Given the description of an element on the screen output the (x, y) to click on. 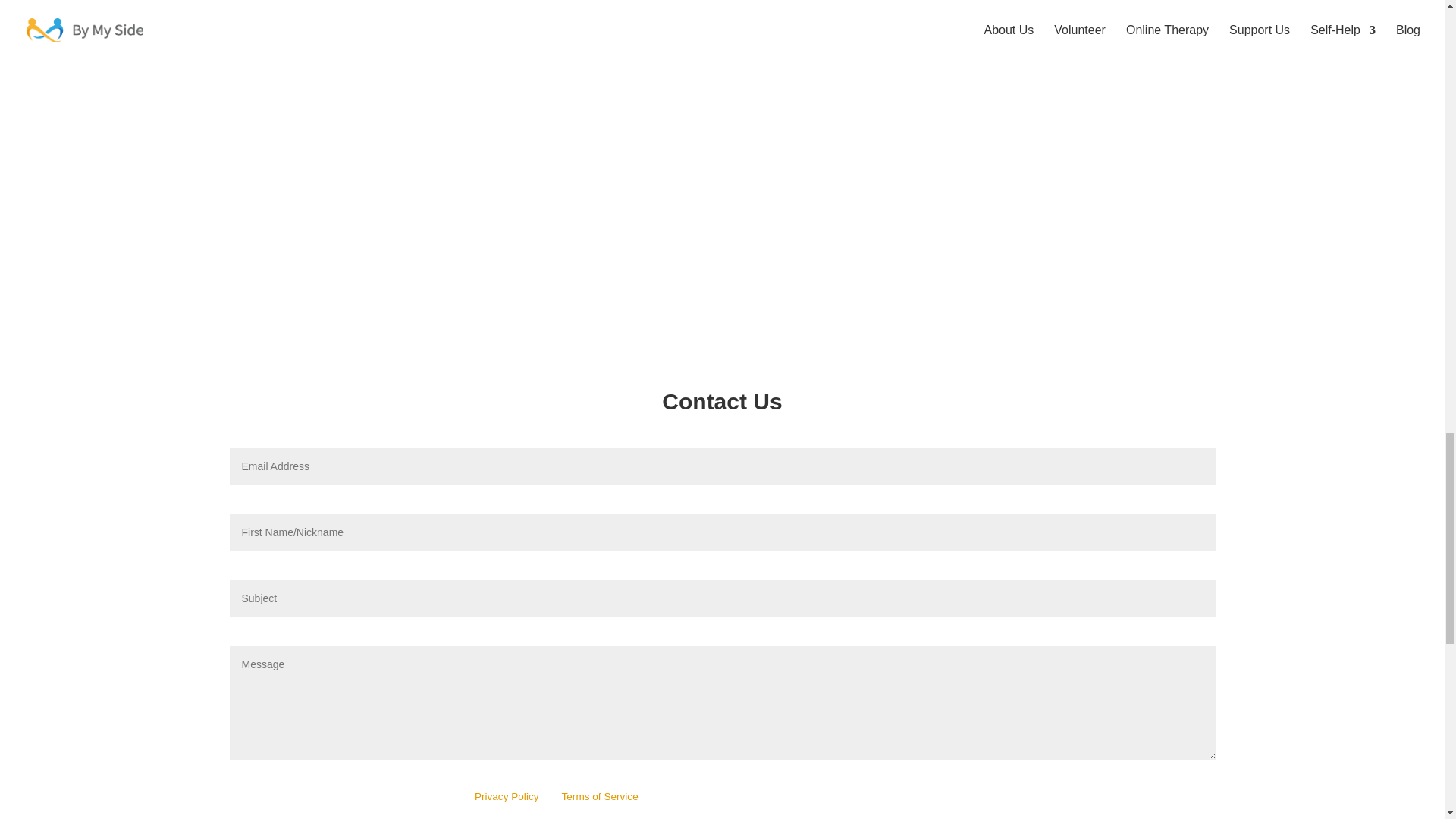
Read More (722, 85)
Terms of Service (598, 796)
Privacy Policy (506, 796)
